Given the description of an element on the screen output the (x, y) to click on. 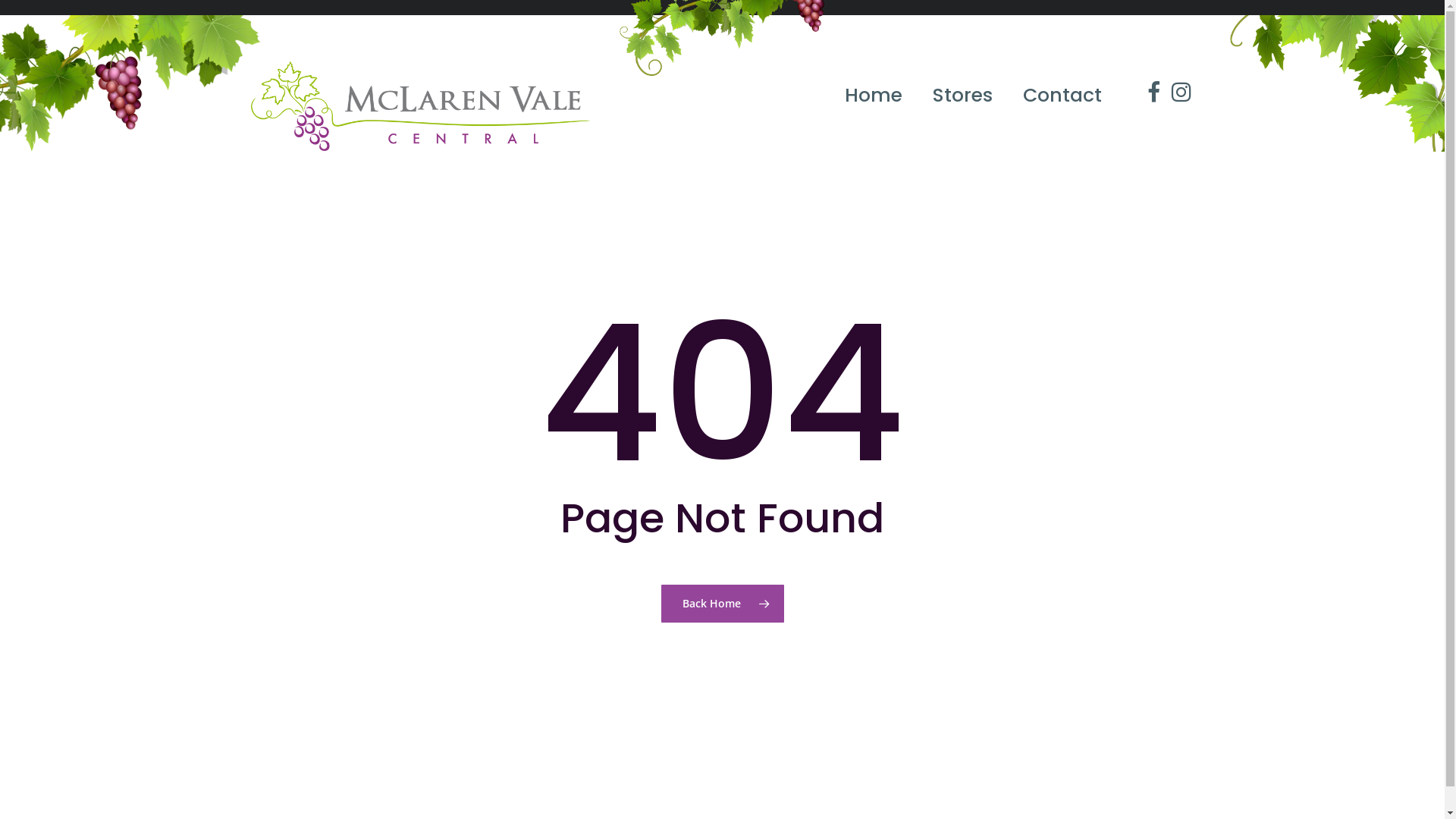
facebook Element type: text (1143, 85)
Back Home Element type: text (722, 603)
Stores Element type: text (962, 87)
Home Element type: text (873, 87)
instagram Element type: text (1171, 85)
Contact Element type: text (1062, 87)
